Given the description of an element on the screen output the (x, y) to click on. 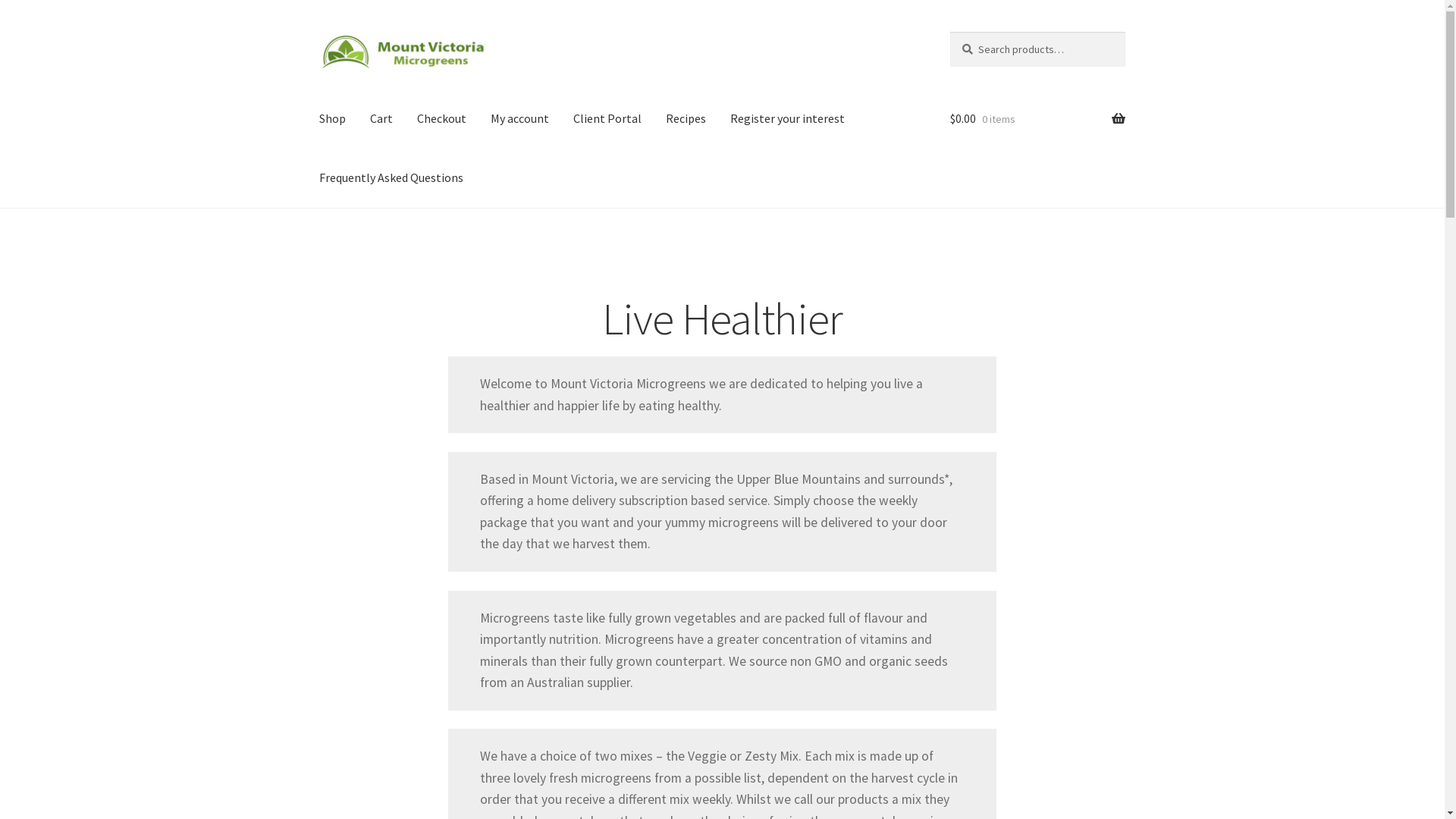
Client Portal Element type: text (607, 118)
$0.00 0 items Element type: text (1037, 118)
My account Element type: text (519, 118)
Search Element type: text (949, 31)
Cart Element type: text (380, 118)
Register your interest Element type: text (787, 118)
Skip to navigation Element type: text (318, 31)
Recipes Element type: text (685, 118)
Checkout Element type: text (441, 118)
Shop Element type: text (332, 118)
Frequently Asked Questions Element type: text (391, 177)
